Given the description of an element on the screen output the (x, y) to click on. 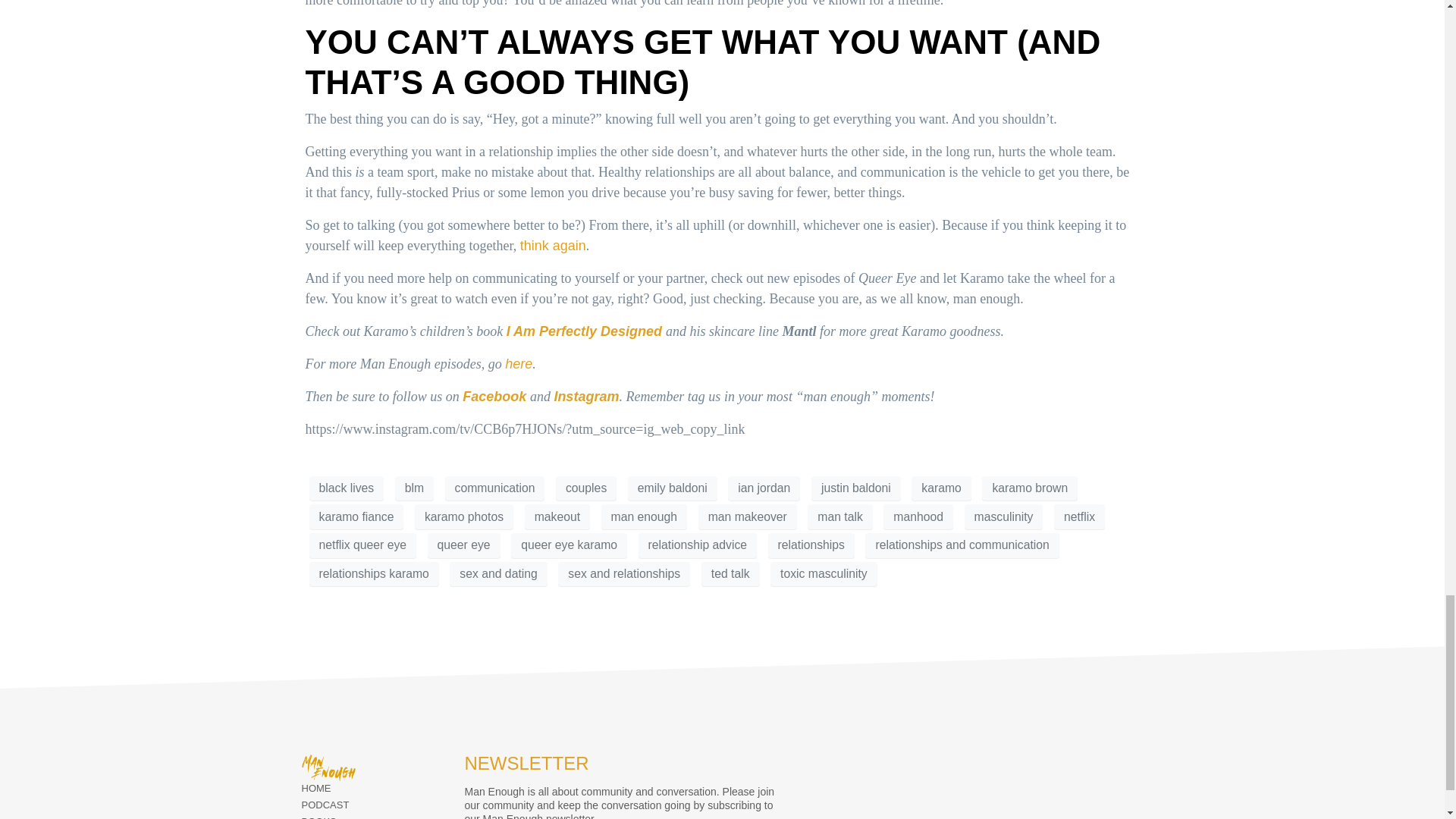
karamo (941, 488)
Instagram (585, 396)
emily baldoni (672, 488)
karamo fiance (356, 516)
karamo brown (1029, 488)
couples (585, 488)
communication (494, 488)
justin baldoni (855, 488)
black lives (346, 488)
ian jordan (763, 488)
karamo photos (463, 516)
blm (413, 488)
I Am Perfectly Designed (585, 331)
Facebook (494, 396)
here (518, 363)
